Given the description of an element on the screen output the (x, y) to click on. 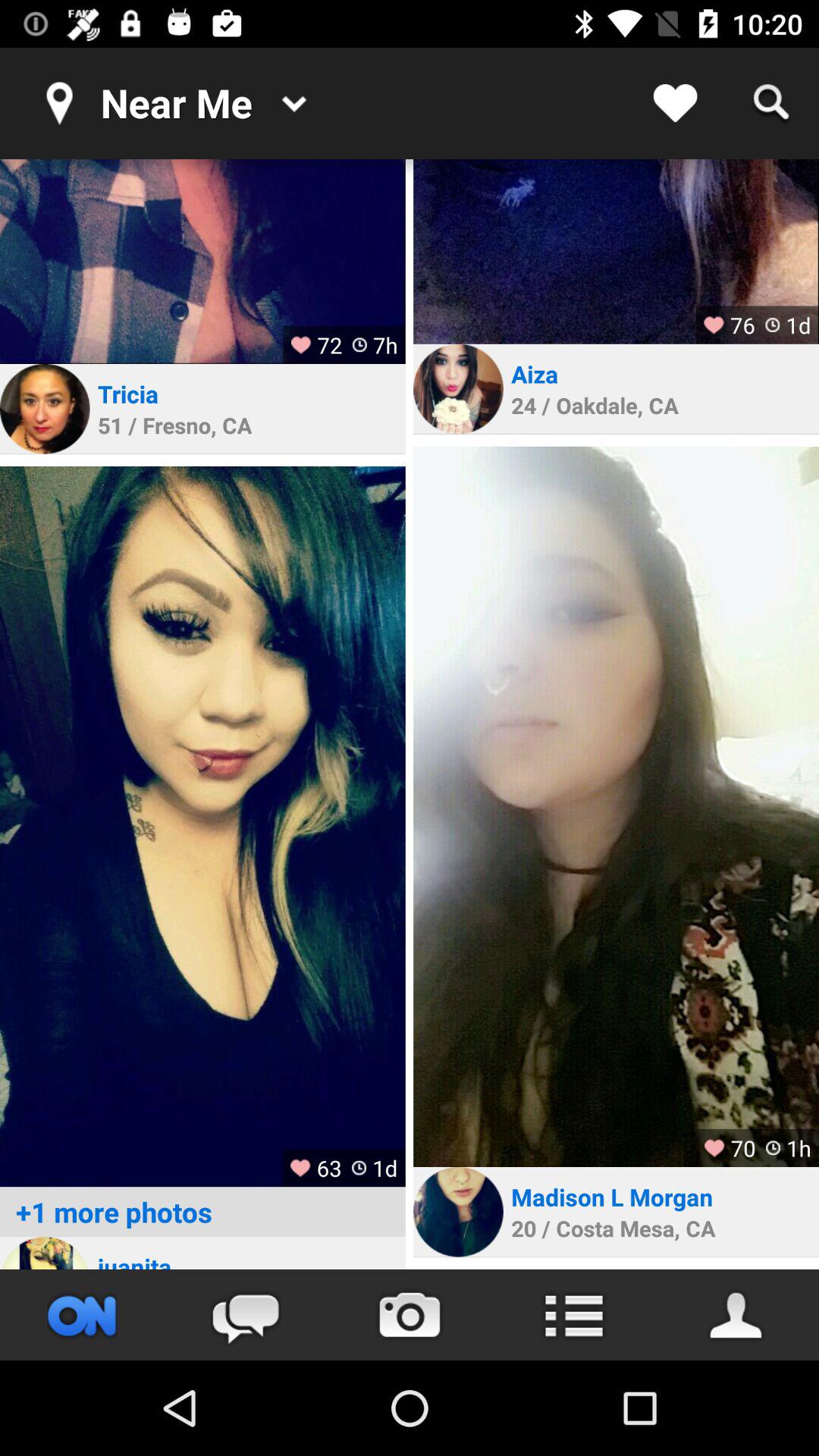
advertisement (202, 826)
